Given the description of an element on the screen output the (x, y) to click on. 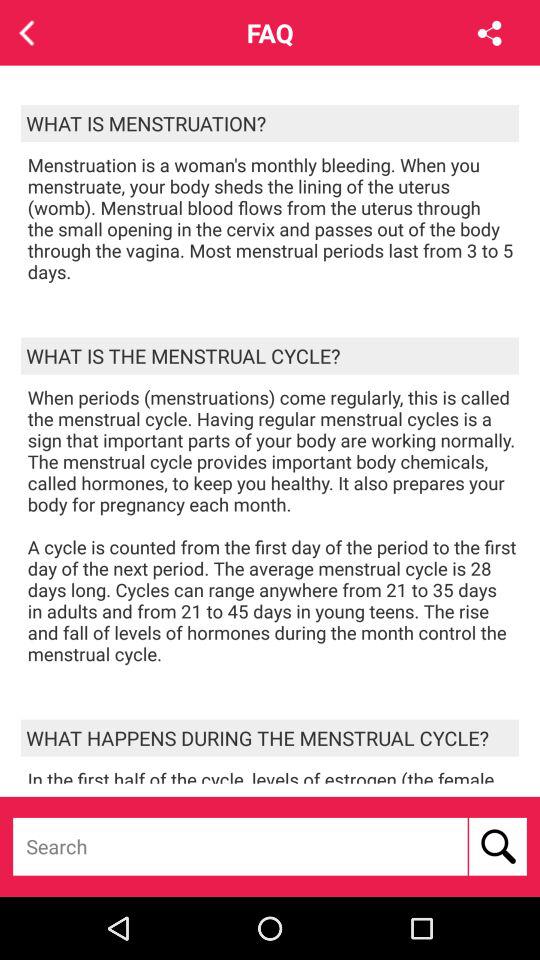
click item below in the first (497, 846)
